Given the description of an element on the screen output the (x, y) to click on. 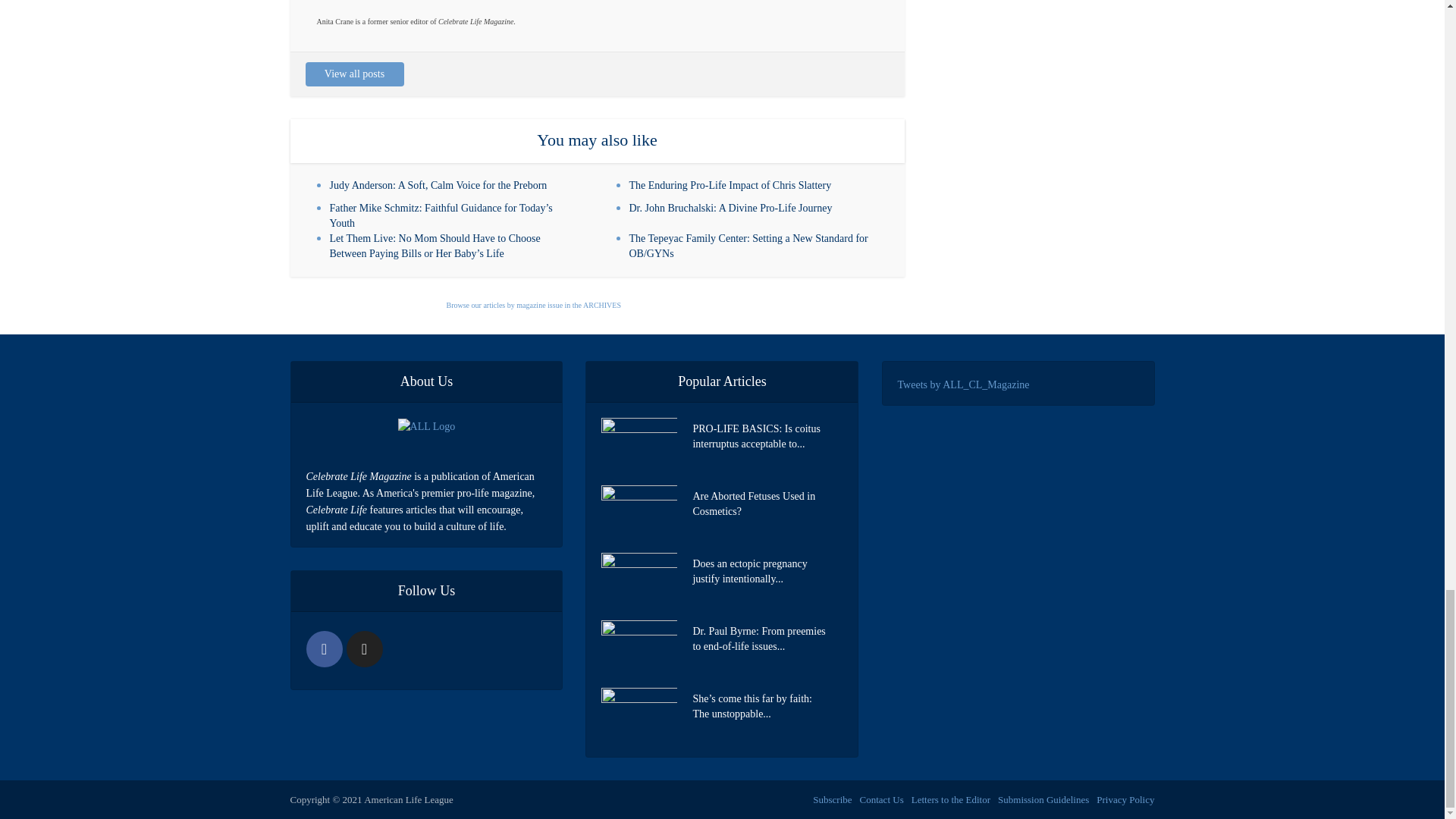
Dr. John Bruchalski: A Divine Pro-Life Journey (730, 207)
Judy Anderson: A Soft, Calm Voice for the Preborn (438, 184)
The Enduring Pro-Life Impact of Chris Slattery (729, 184)
